Given the description of an element on the screen output the (x, y) to click on. 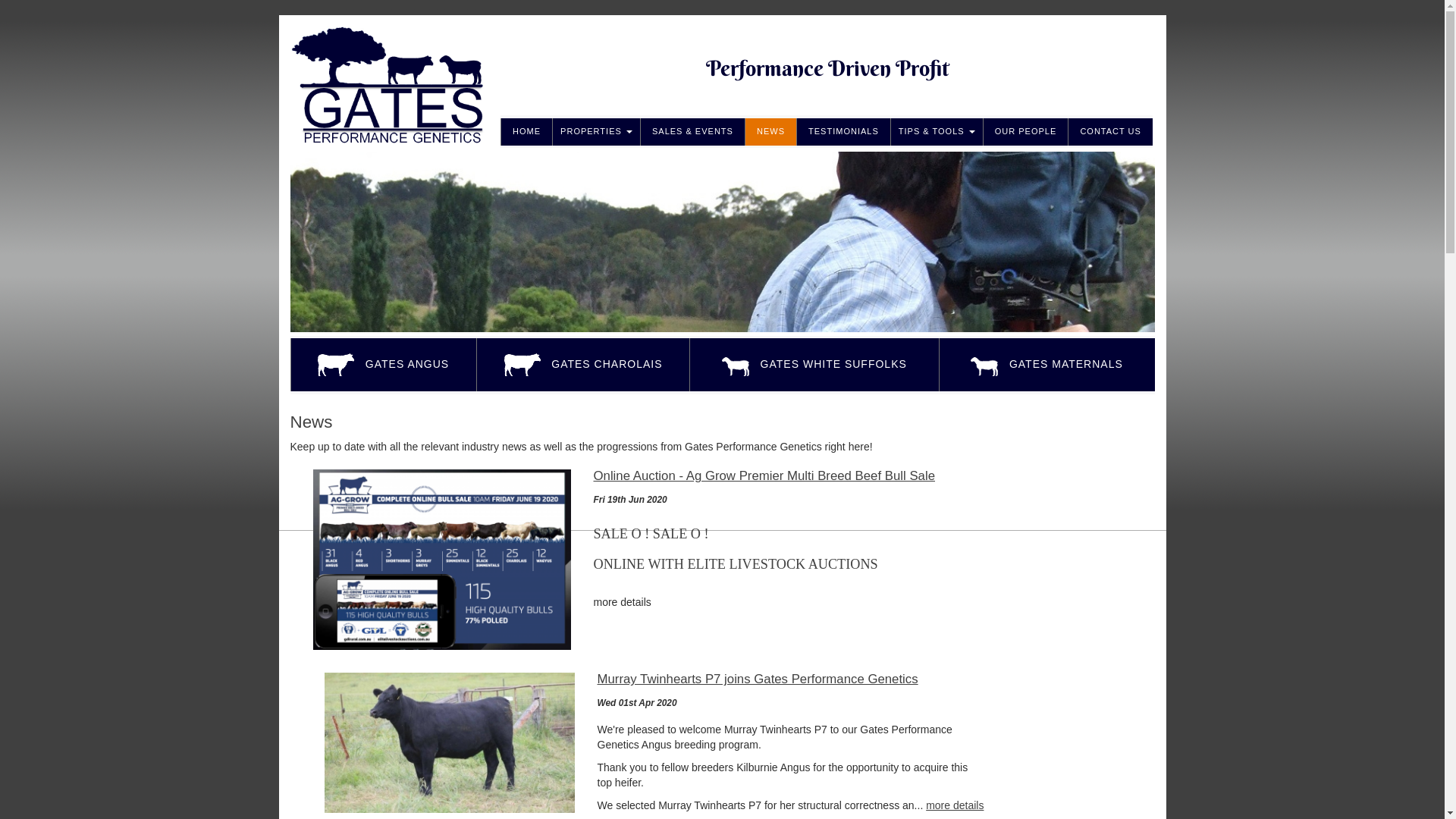
PROPERTIES  Element type: text (596, 131)
   GATES CHAROLAIS Element type: text (582, 364)
Online Auction - Ag Grow Premier Multi Breed Beef Bull Sale Element type: text (792, 476)
HOME Element type: text (526, 131)
   GATES WHITE SUFFOLKS Element type: text (813, 364)
   GATES ANGUS Element type: text (382, 364)
OUR PEOPLE Element type: text (1025, 131)
SALES & EVENTS Element type: text (692, 131)
TESTIMONIALS Element type: text (843, 131)
TIPS & TOOLS  Element type: text (936, 131)
more details Element type: text (954, 805)
CONTACT US Element type: text (1109, 131)
   GATES MATERNALS Element type: text (1046, 364)
NEWS Element type: text (770, 131)
Murray Twinhearts P7 joins Gates Performance Genetics Element type: text (790, 679)
